Given the description of an element on the screen output the (x, y) to click on. 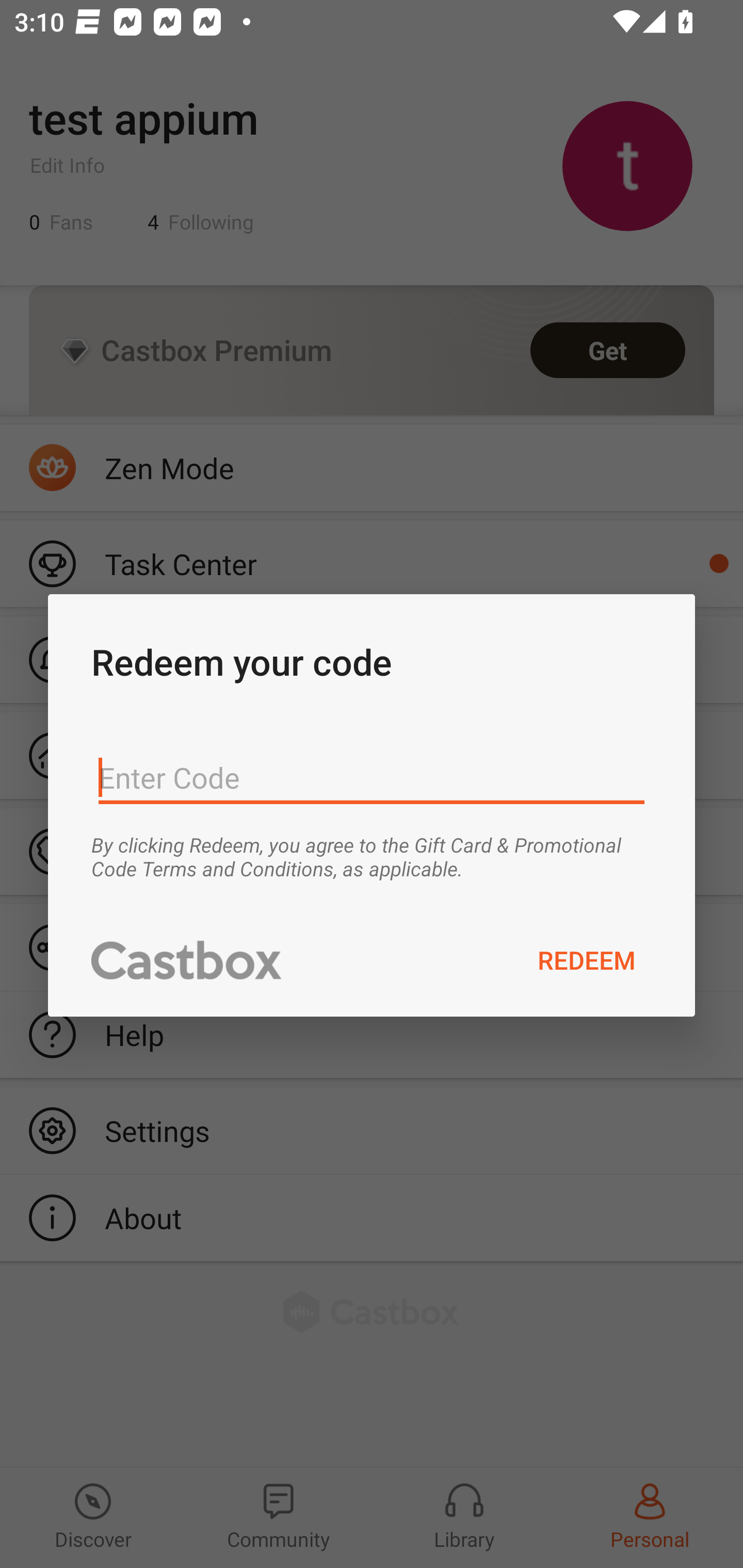
Enter Code (371, 778)
REDEEM (586, 959)
